Given the description of an element on the screen output the (x, y) to click on. 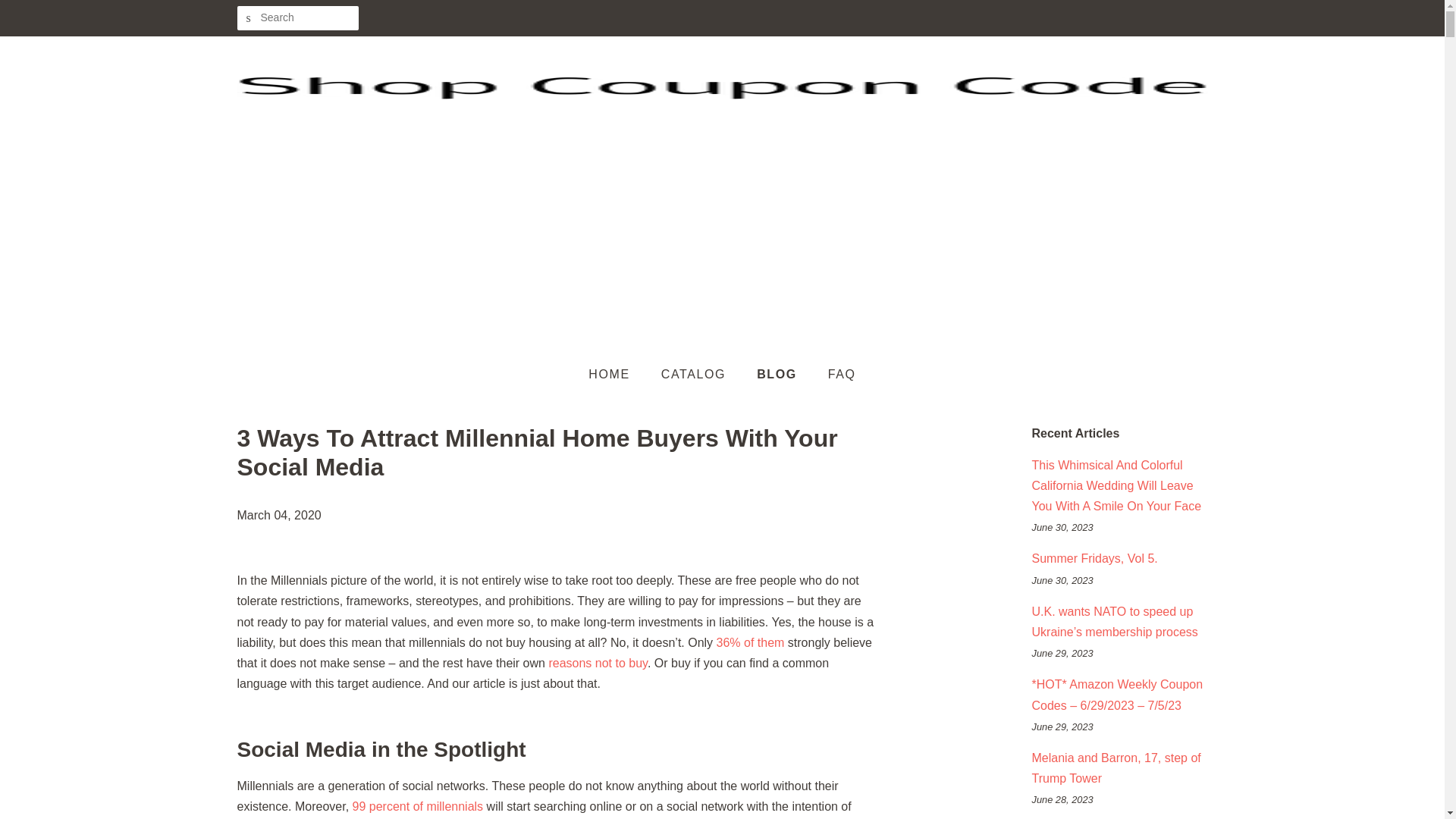
SEARCH (247, 18)
reasons not to buy (597, 662)
BLOG (778, 373)
HOME (616, 373)
FAQ (836, 373)
99 percent of millennials (417, 806)
Summer Fridays, Vol 5. (1093, 558)
Melania and Barron, 17, step of Trump Tower (1114, 767)
CATALOG (695, 373)
